Given the description of an element on the screen output the (x, y) to click on. 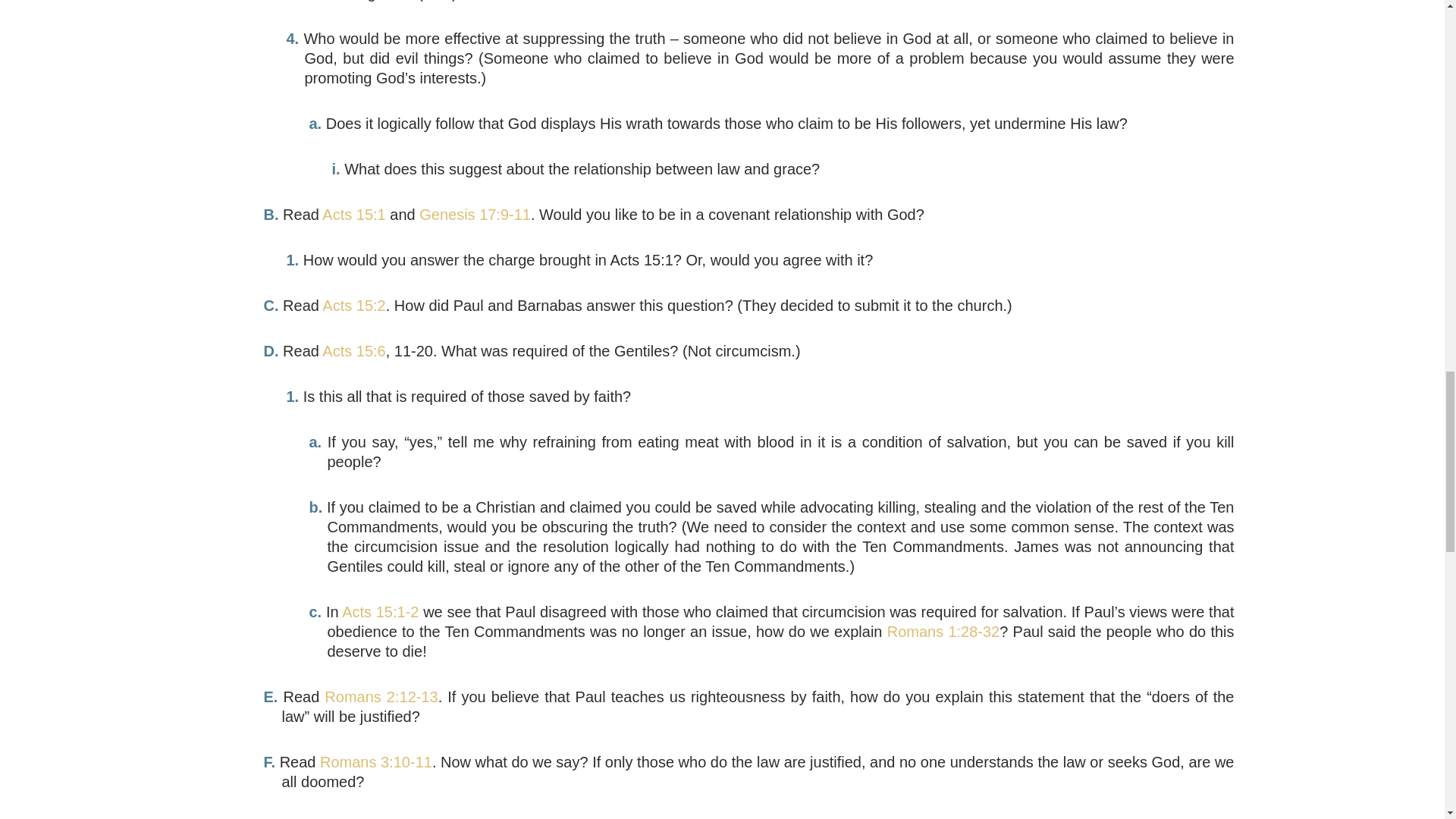
Acts 15:6 (353, 351)
Acts 15:2 (353, 305)
Genesis 17:9-11 (475, 214)
Romans 1:28-32 (943, 631)
Acts 15:1 (353, 214)
Romans 2:12-13 (381, 696)
Romans 3:10-11 (376, 761)
Acts 15:1-2 (380, 611)
